Given the description of an element on the screen output the (x, y) to click on. 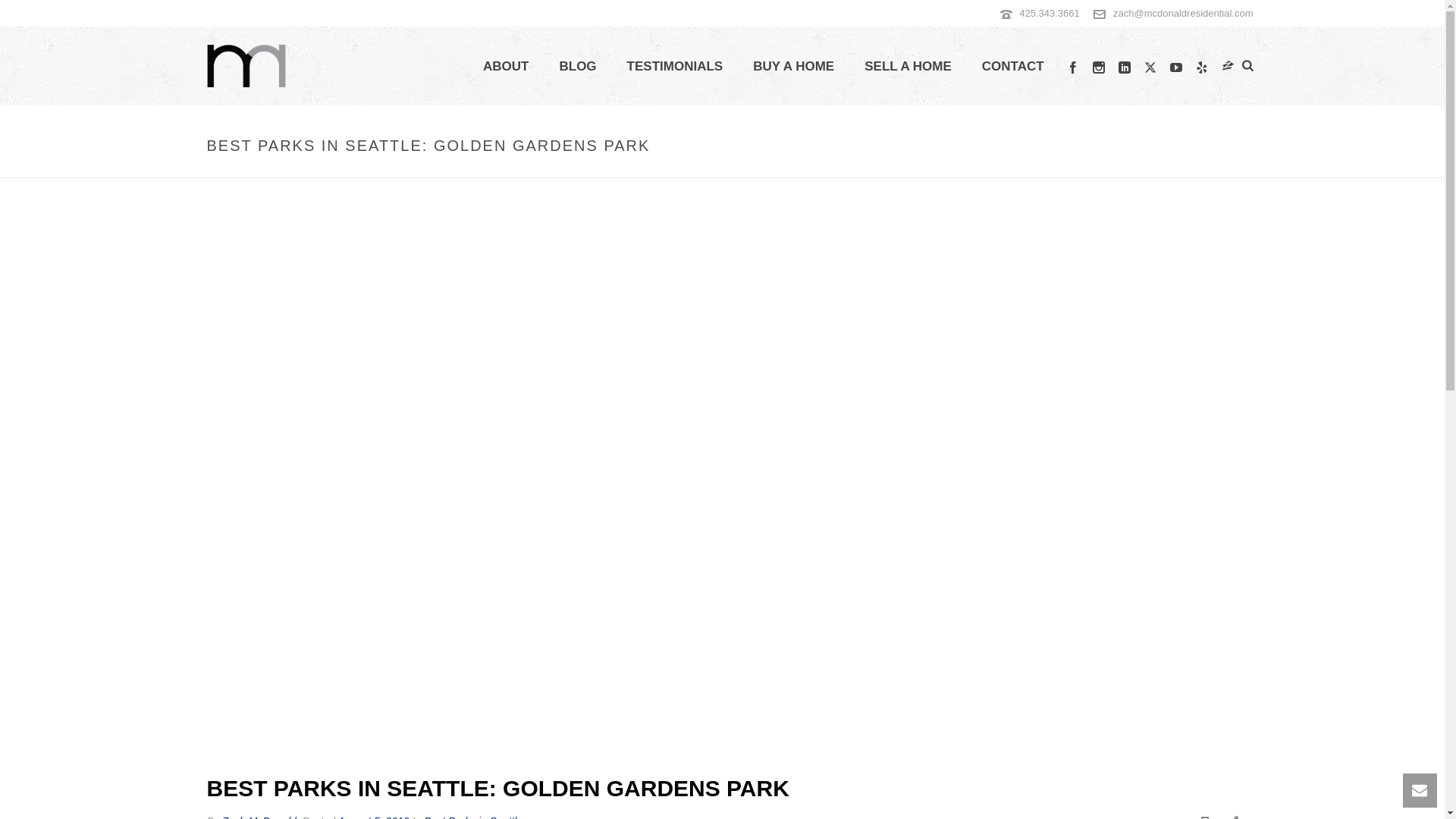
BLOG (577, 66)
Posts by Zach McDonald (259, 816)
BLOG (577, 66)
ABOUT (505, 66)
CONTACT (1012, 66)
SELL A HOME (907, 66)
Helping People Like You Buy and Sell Real Estate (245, 65)
ABOUT (505, 66)
TESTIMONIALS (674, 66)
TESTIMONIALS (674, 66)
BUY A HOME (793, 66)
425.343.3661 (1049, 12)
SELL A HOME (907, 66)
CONTACT (1012, 66)
BUY A HOME (793, 66)
